Given the description of an element on the screen output the (x, y) to click on. 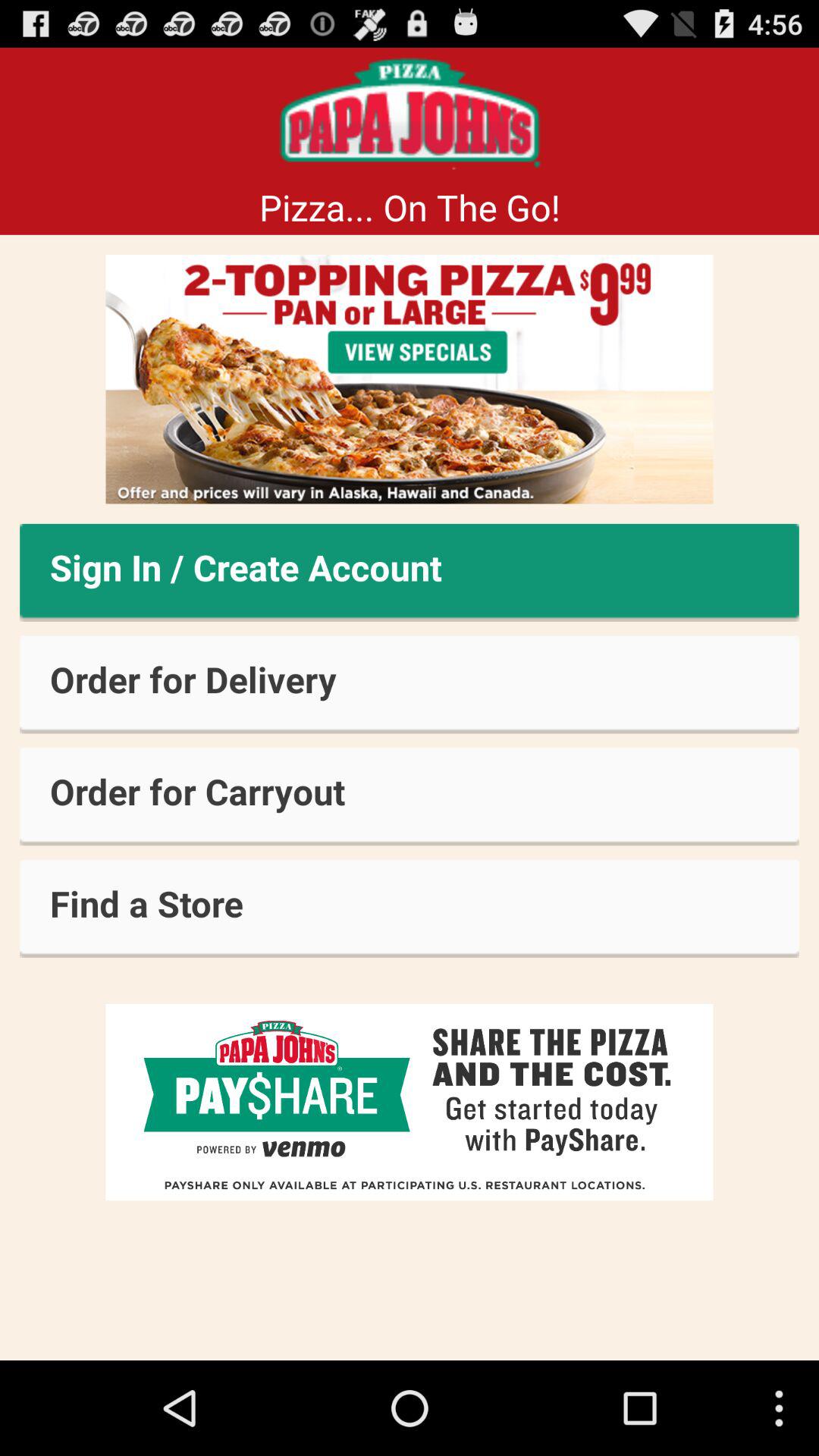
tap find a store icon (409, 908)
